Given the description of an element on the screen output the (x, y) to click on. 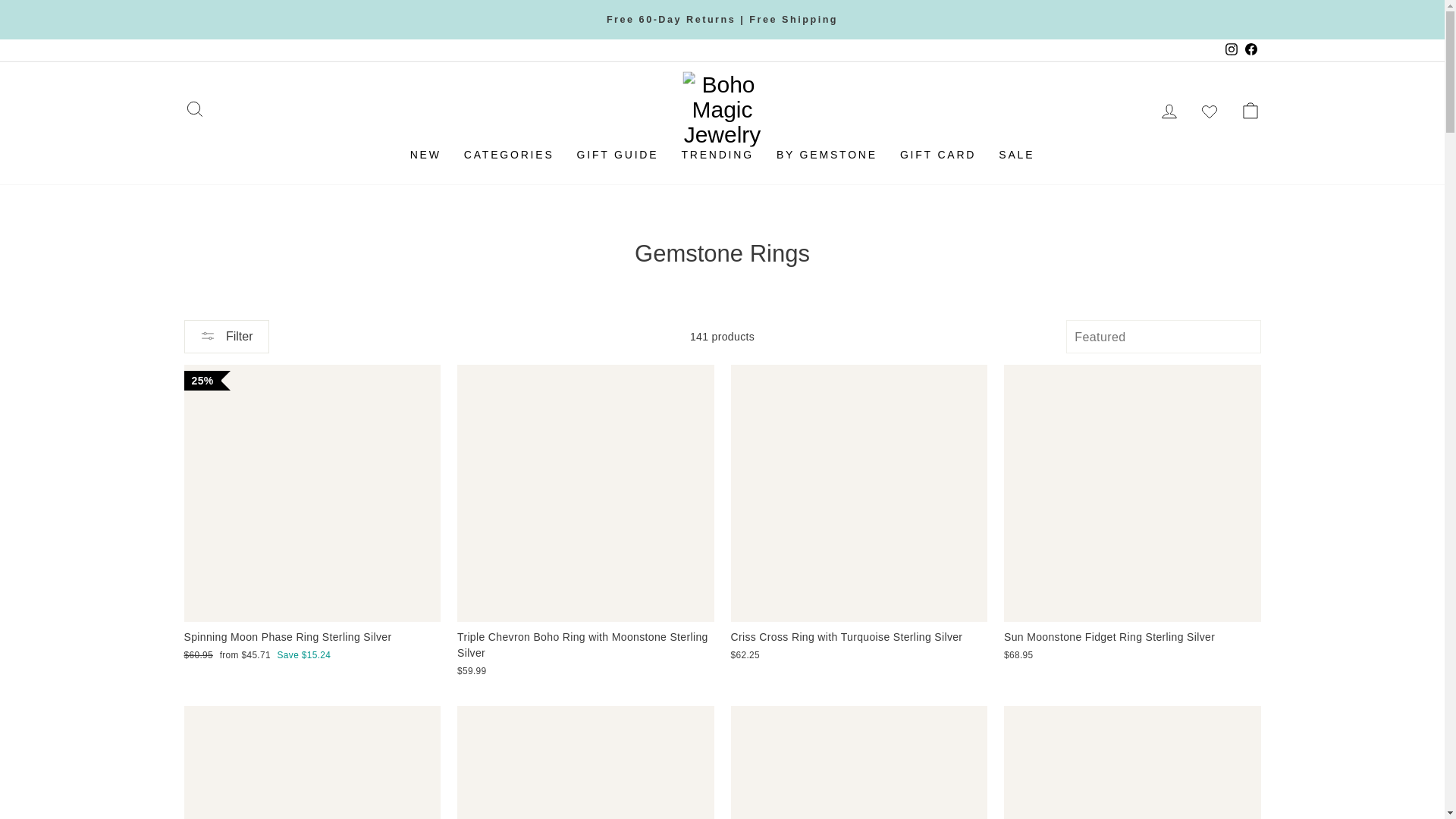
Boho Magic Jewelry on Instagram (1230, 50)
Boho Magic Jewelry on Facebook (1250, 50)
